Given the description of an element on the screen output the (x, y) to click on. 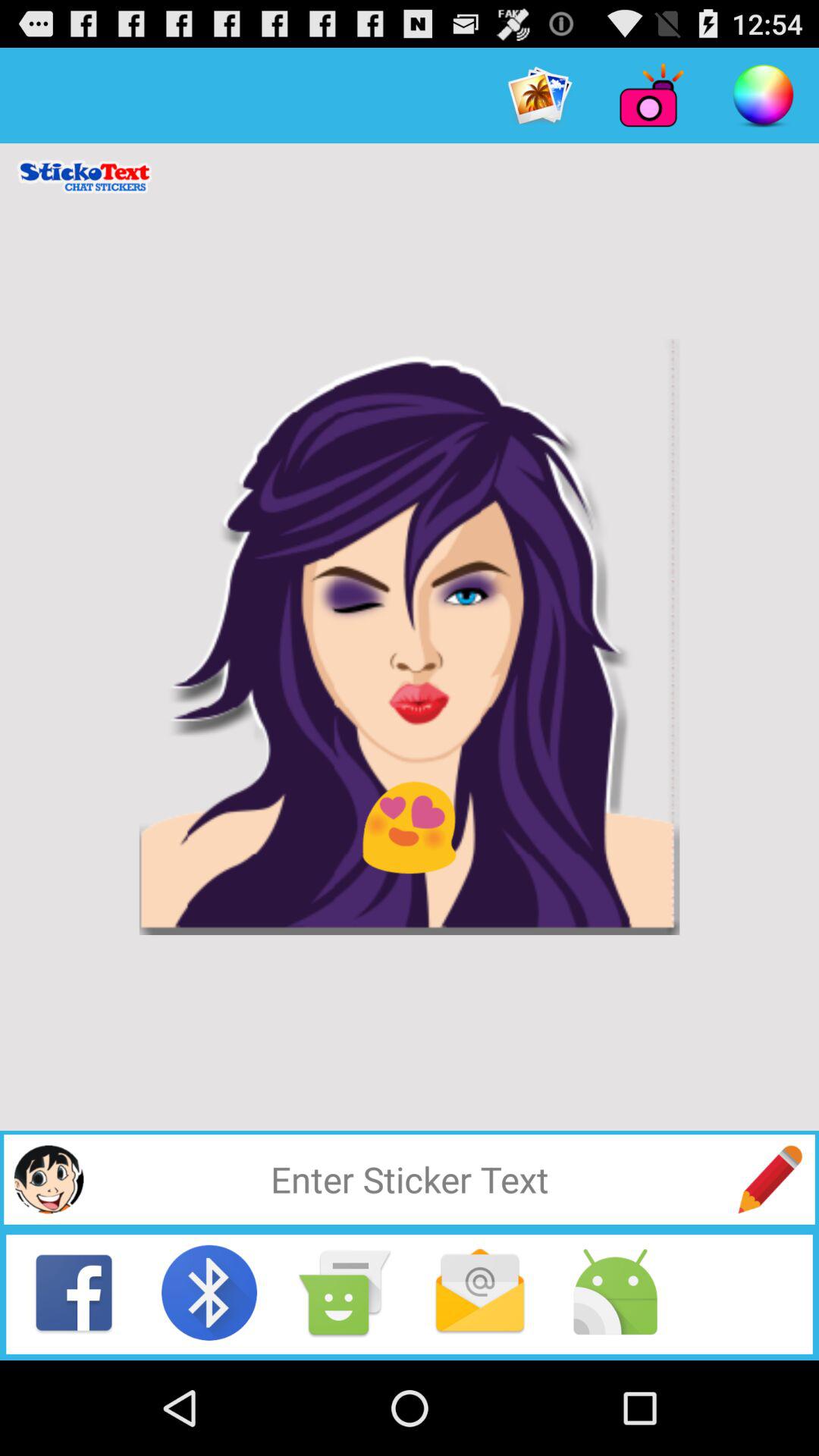
facebook (73, 1292)
